Given the description of an element on the screen output the (x, y) to click on. 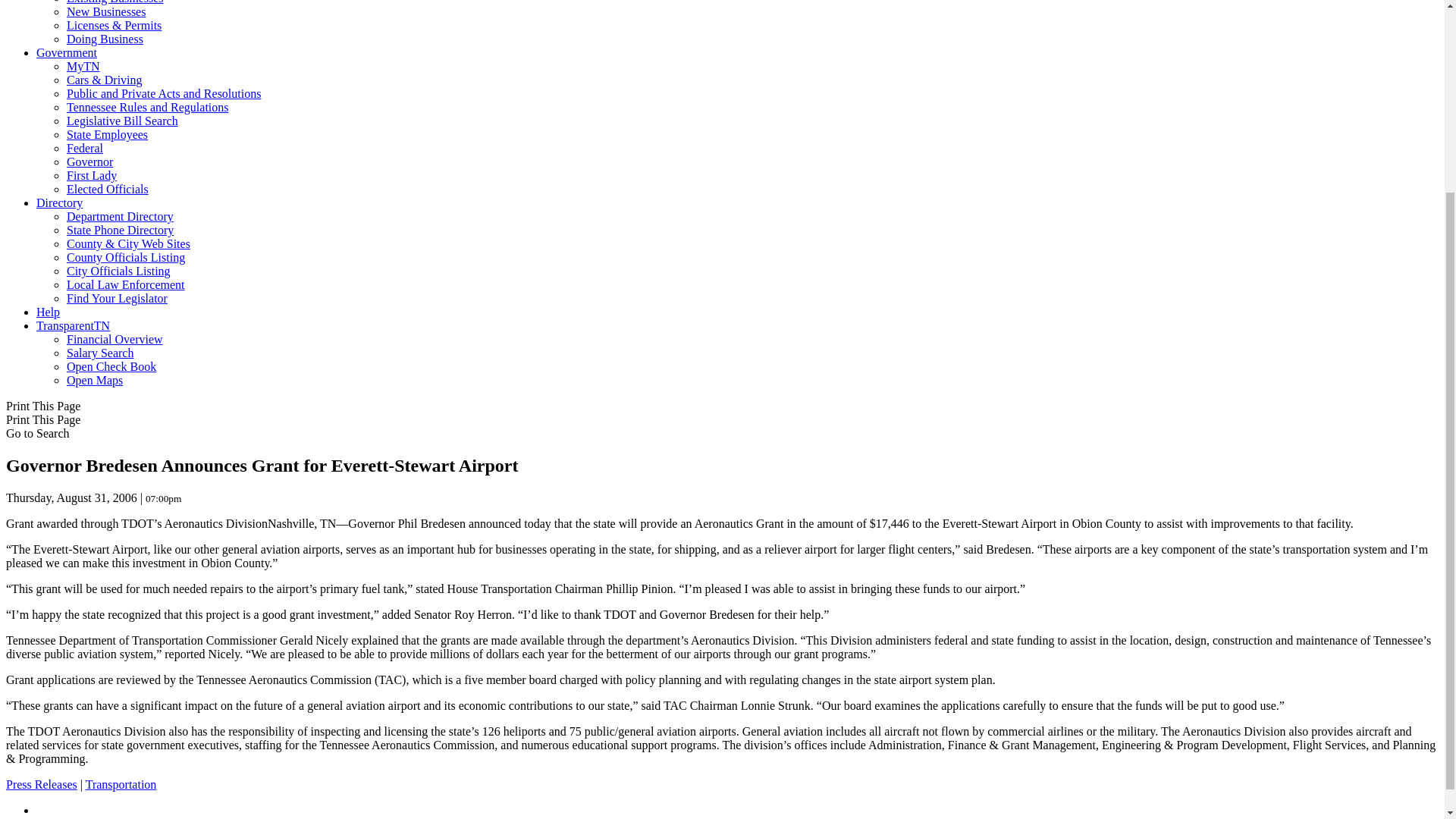
New Businesses (105, 11)
Department Directory (119, 215)
Directory (59, 202)
Elected Officials (107, 188)
Doing Business (104, 38)
Public and Private Acts and Resolutions (163, 92)
Tennessee Rules and Regulations (147, 106)
Legislative Bill Search (121, 120)
State Employees (107, 133)
TransparentTN (73, 325)
Government (66, 51)
Help (47, 311)
Local Law Enforcement (125, 284)
State Phone Directory (119, 229)
First Lady (91, 174)
